Given the description of an element on the screen output the (x, y) to click on. 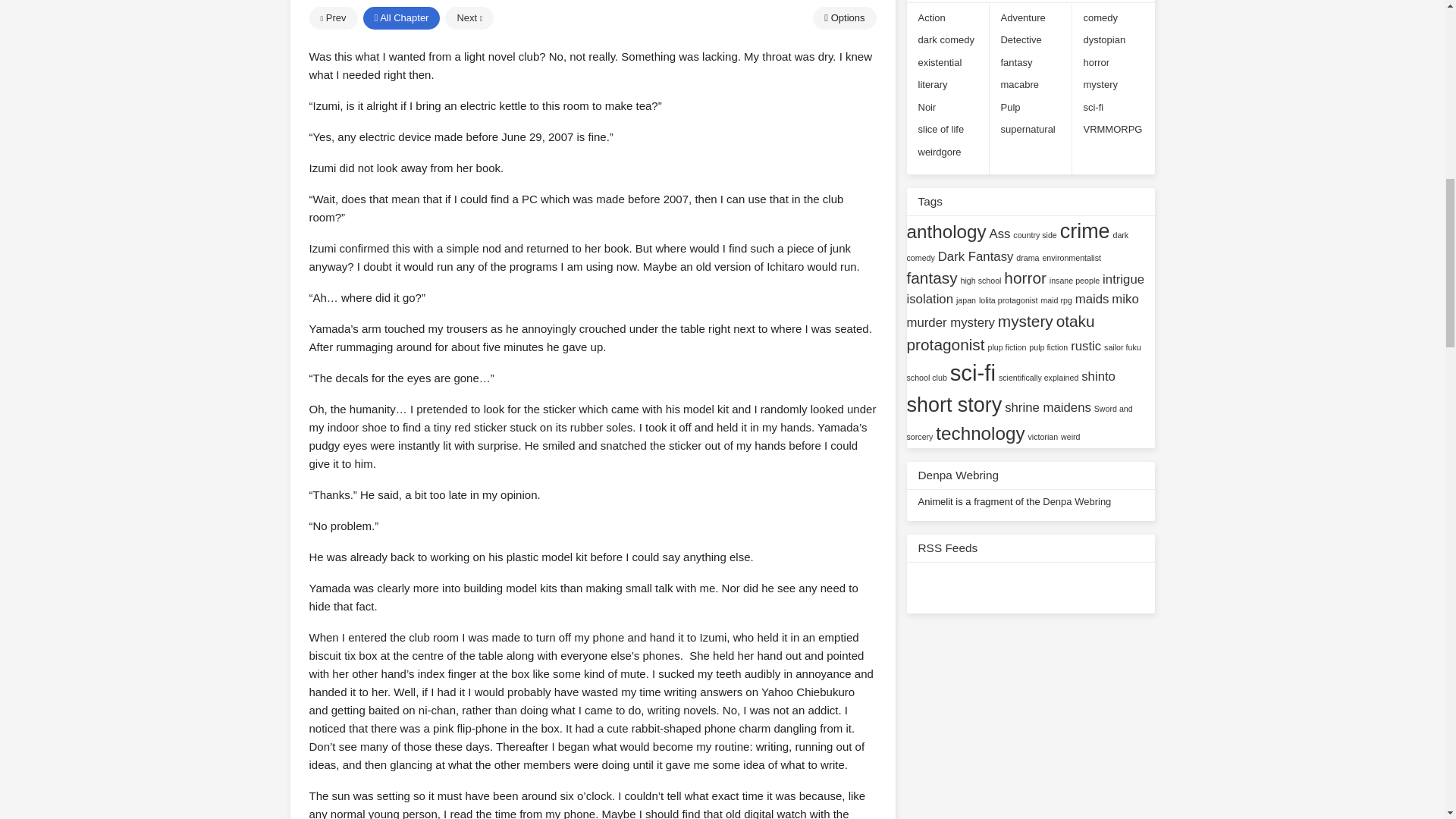
View all series in Action (931, 17)
